Given the description of an element on the screen output the (x, y) to click on. 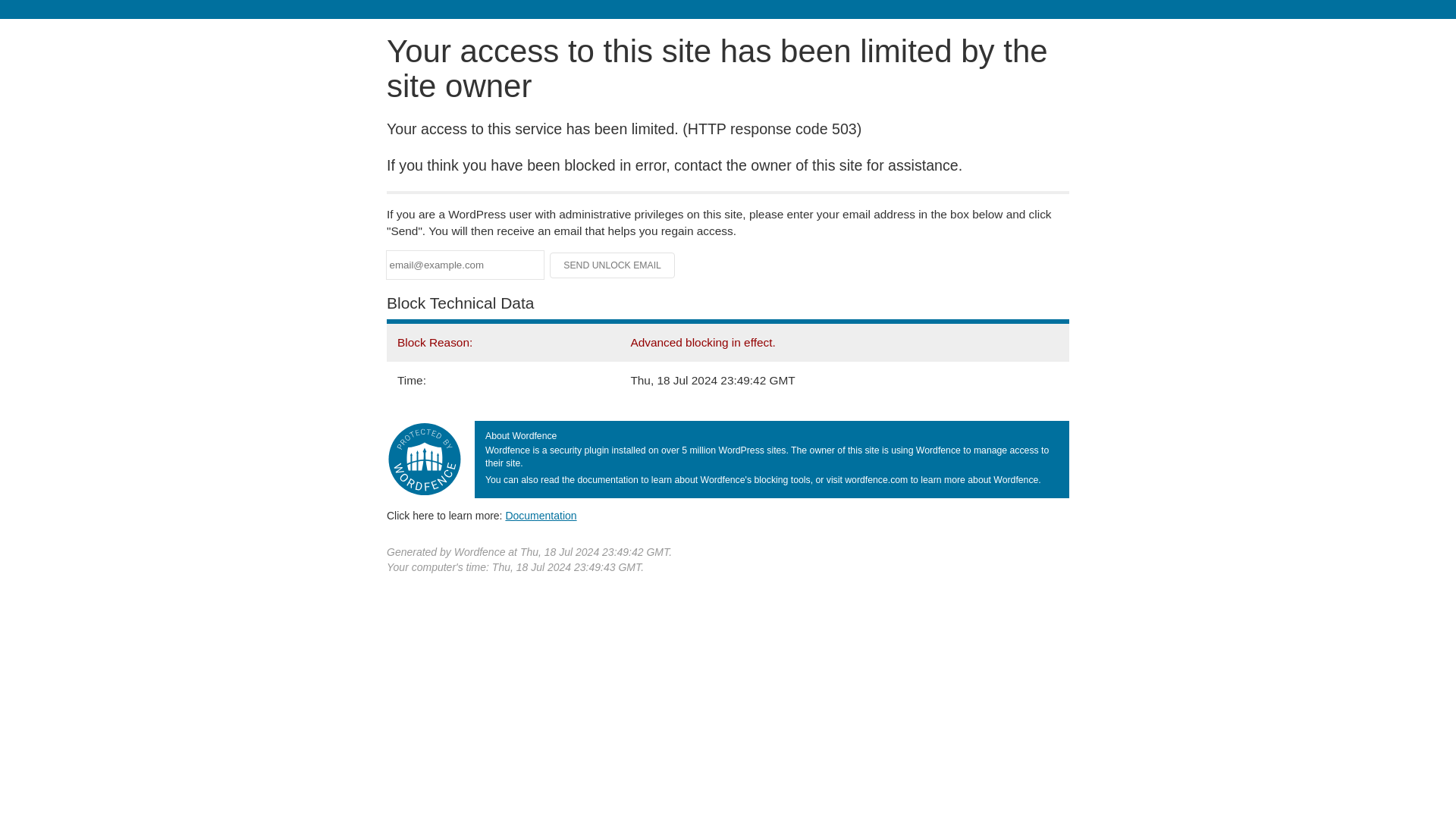
Documentation (540, 515)
Send Unlock Email (612, 265)
Send Unlock Email (612, 265)
